Given the description of an element on the screen output the (x, y) to click on. 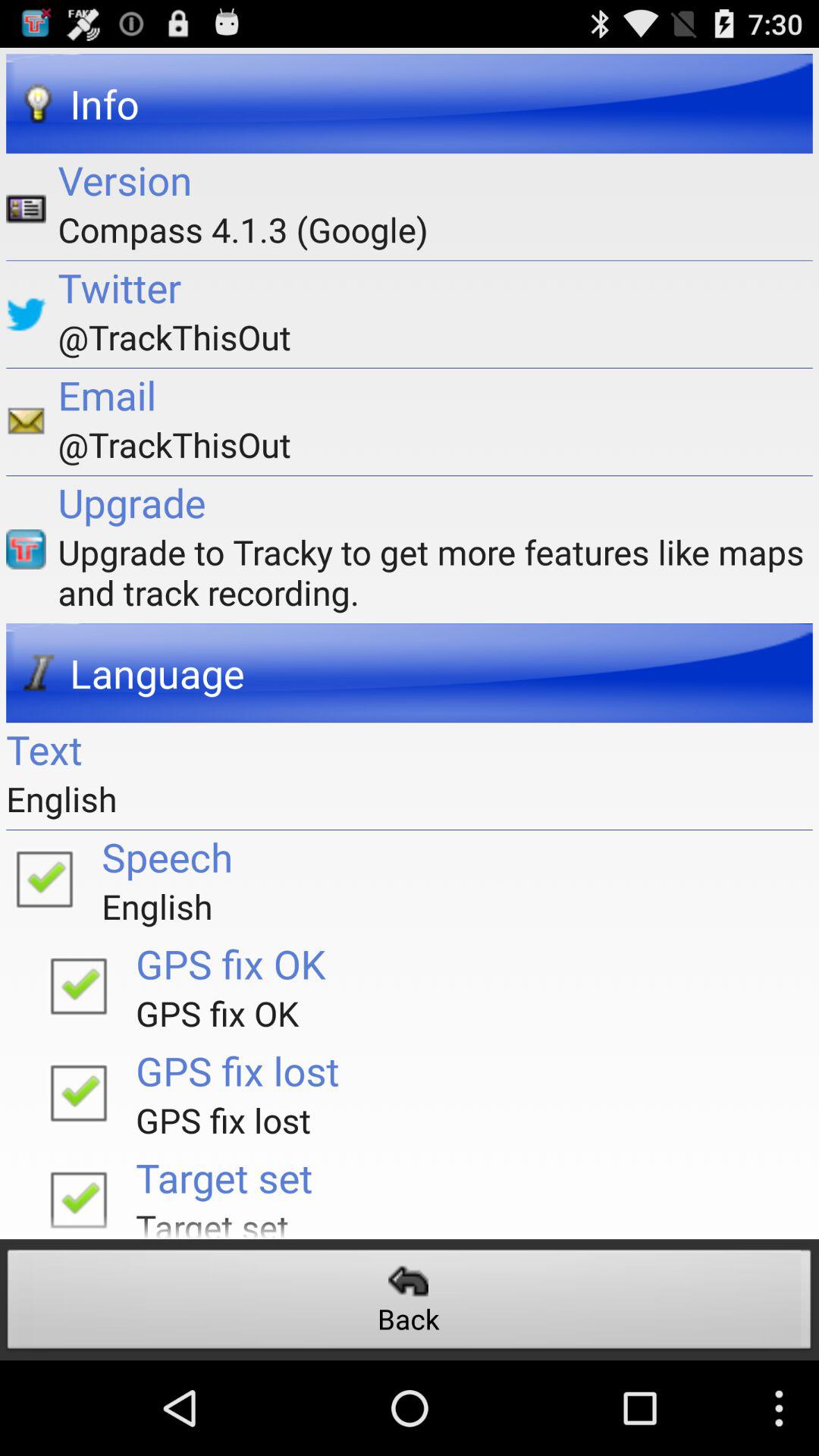
launch back icon (409, 1303)
